Given the description of an element on the screen output the (x, y) to click on. 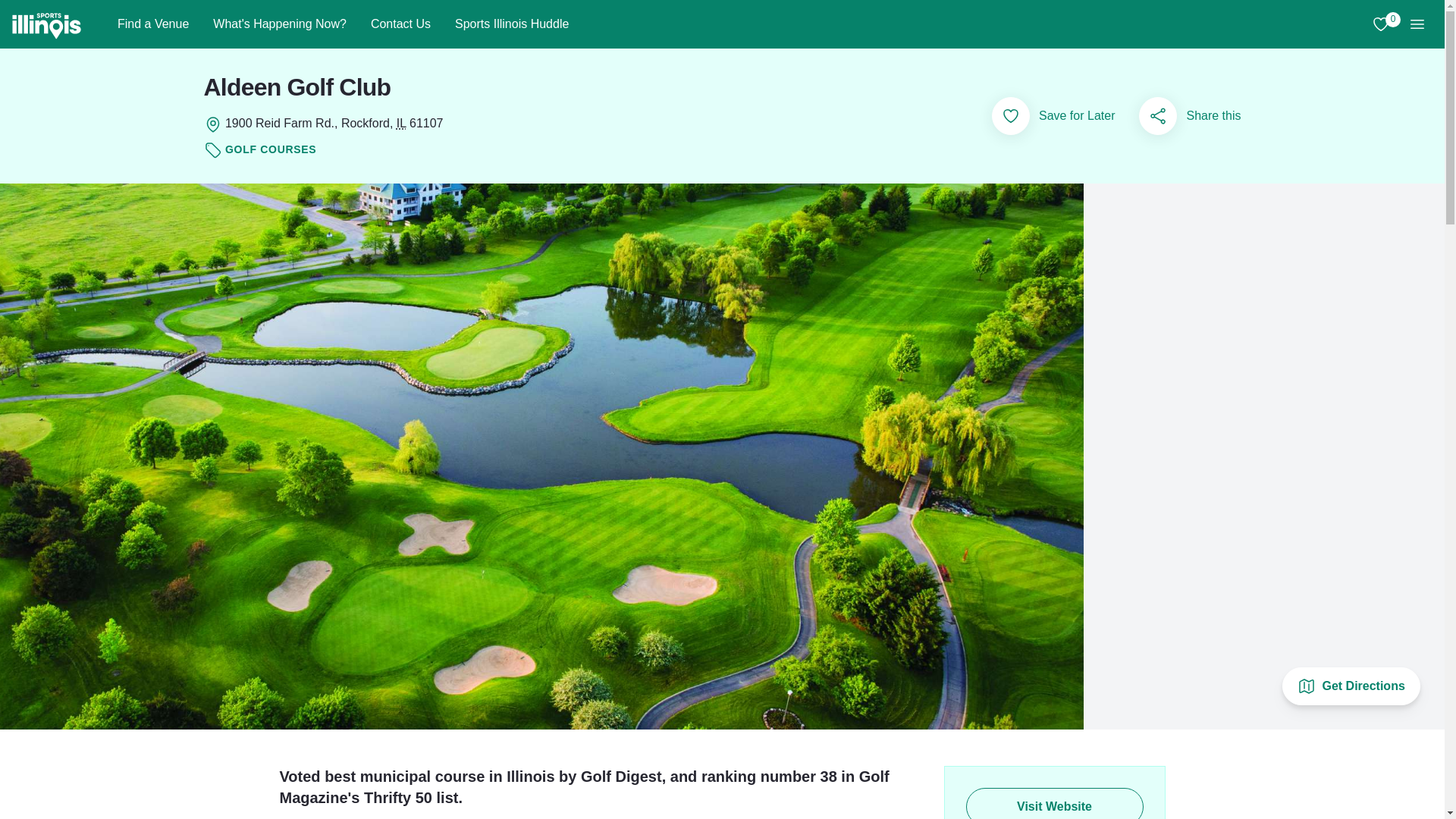
Menu (1417, 24)
Add to Favorites (1010, 116)
Find a Venue (152, 24)
Sports Illinois Huddle (511, 24)
Get Directions (1351, 686)
Visit Website (1054, 803)
What's Happening Now? (279, 24)
Contact Us (400, 24)
